Given the description of an element on the screen output the (x, y) to click on. 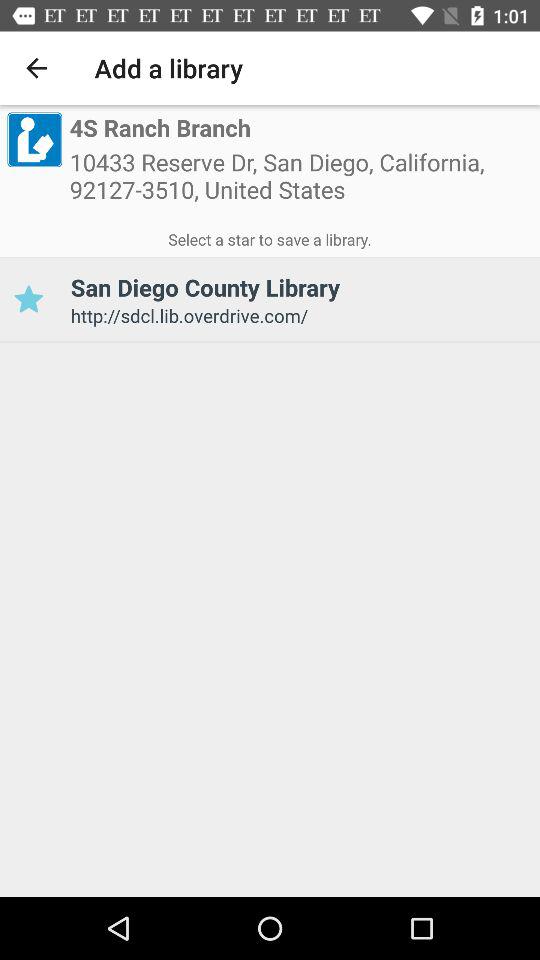
flip until the select a star item (269, 236)
